Given the description of an element on the screen output the (x, y) to click on. 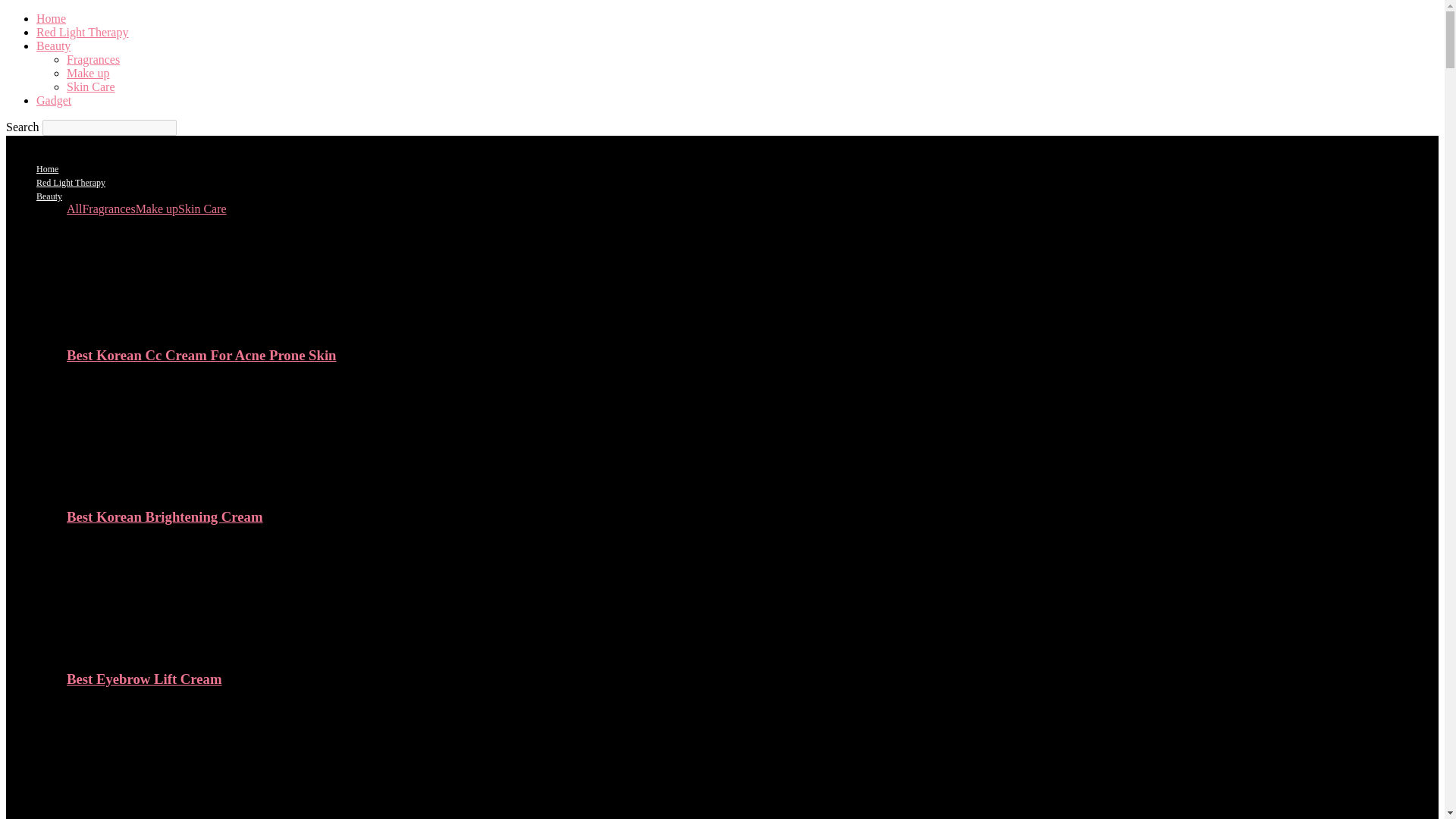
Home (47, 168)
Best Korean Cc Cream For Acne Prone Skin (201, 355)
Best Eyebrow Lift Cream (144, 678)
Best Korean Cc Cream For Acne Prone Skin (201, 355)
Best Enlargement Cream For Male In Nigeria (148, 810)
Gadget (53, 100)
Best Korean Cc Cream For Acne Prone Skin (148, 325)
Best Eyebrow Lift Cream (144, 678)
Best Korean Brightening Cream (164, 516)
Best Korean Brightening Cream (148, 486)
